Given the description of an element on the screen output the (x, y) to click on. 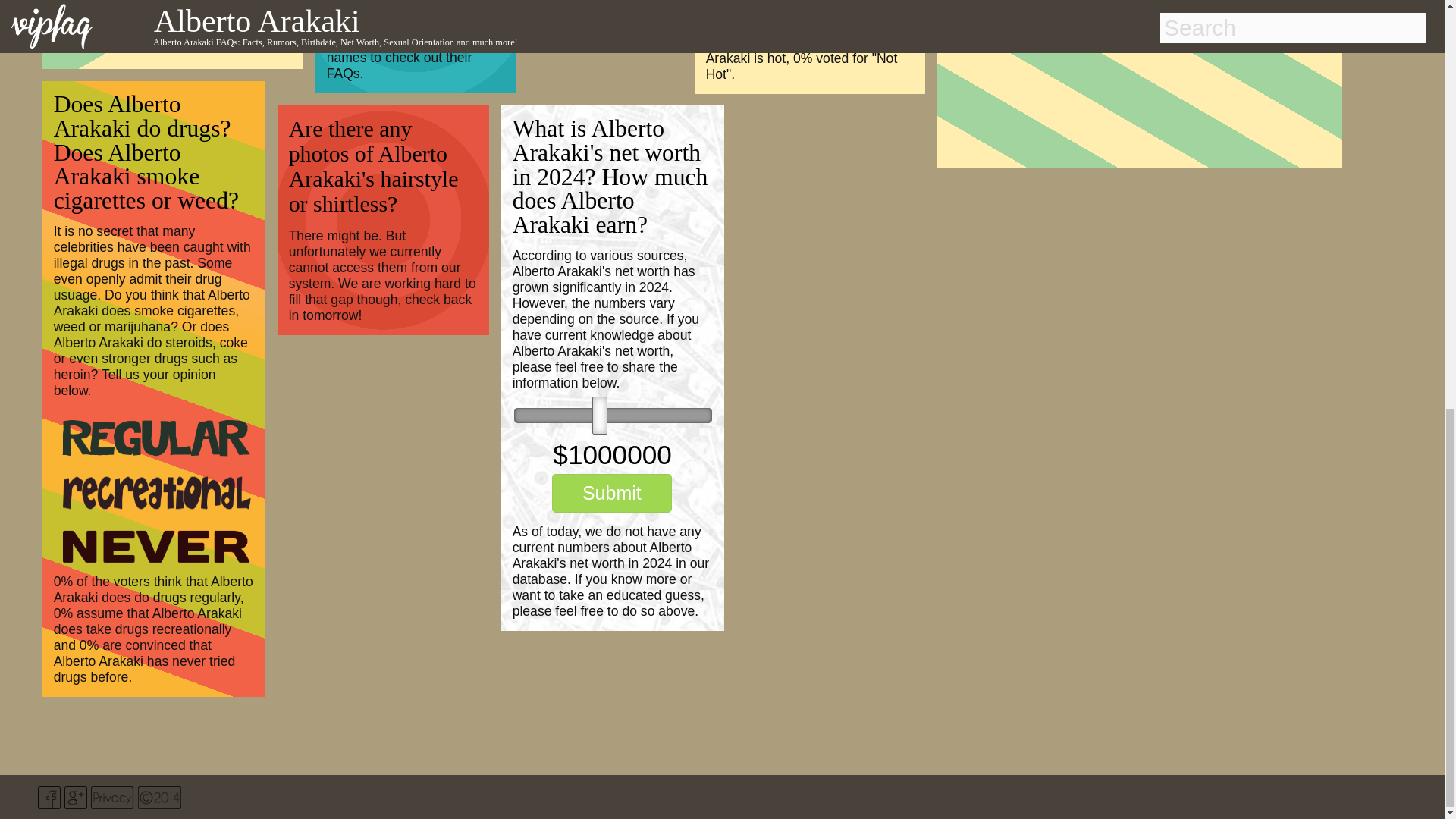
Viggo Jensen (366, 0)
Lindsay Sutton (396, 9)
Louis Pichon (453, 0)
6 (612, 415)
Submit (611, 493)
